Given the description of an element on the screen output the (x, y) to click on. 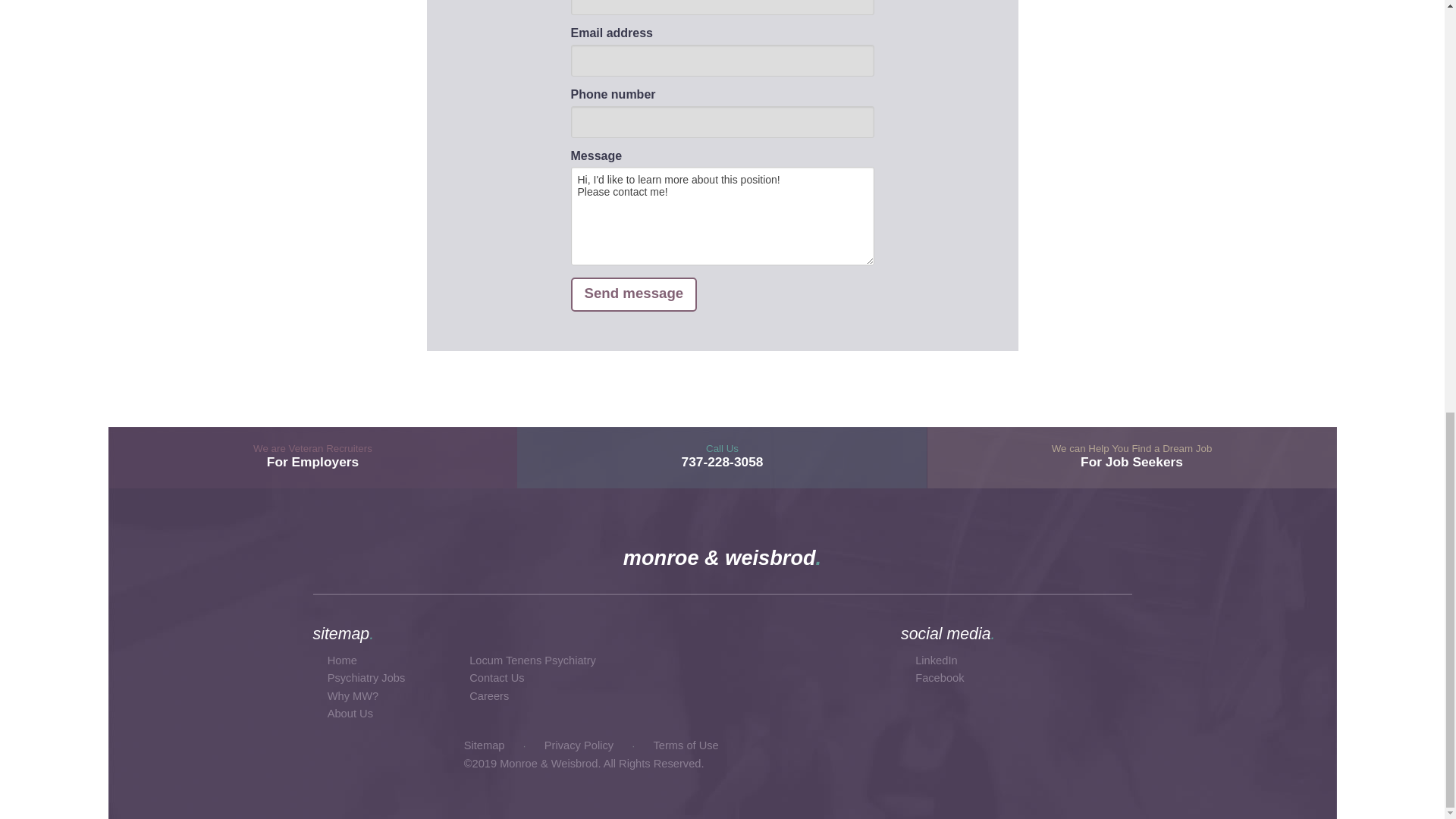
Home (341, 660)
Why MW? (352, 695)
Facebook (939, 677)
Sitemap (484, 745)
Psychiatry Jobs (311, 457)
Careers (366, 677)
LinkedIn (488, 695)
About Us (935, 660)
Contact Us (349, 713)
Locum Tenens Psychiatry (496, 677)
Send message (531, 660)
Terms of Use (1131, 457)
